Given the description of an element on the screen output the (x, y) to click on. 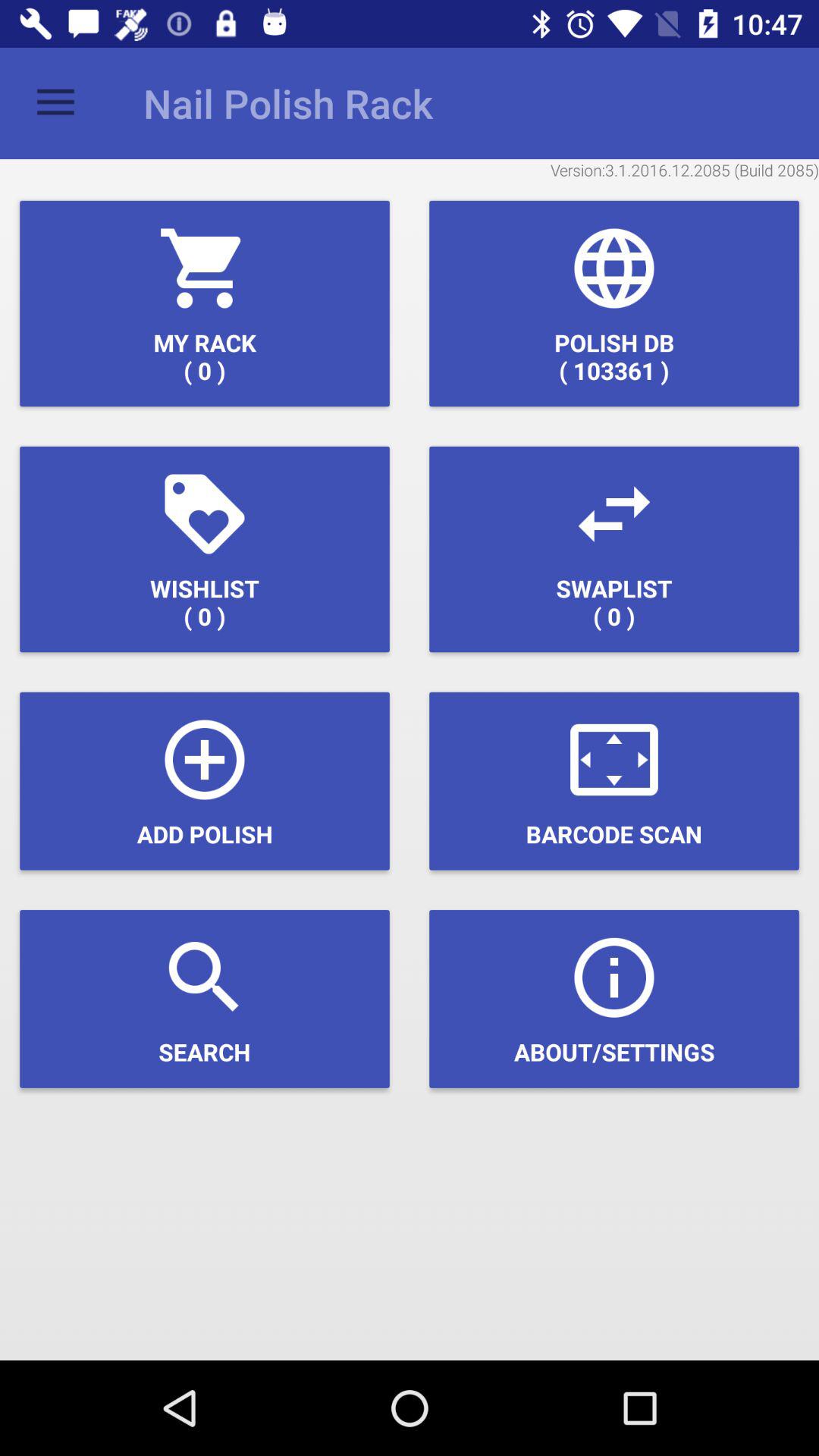
select the item below my rack
( 0 ) (204, 549)
